Given the description of an element on the screen output the (x, y) to click on. 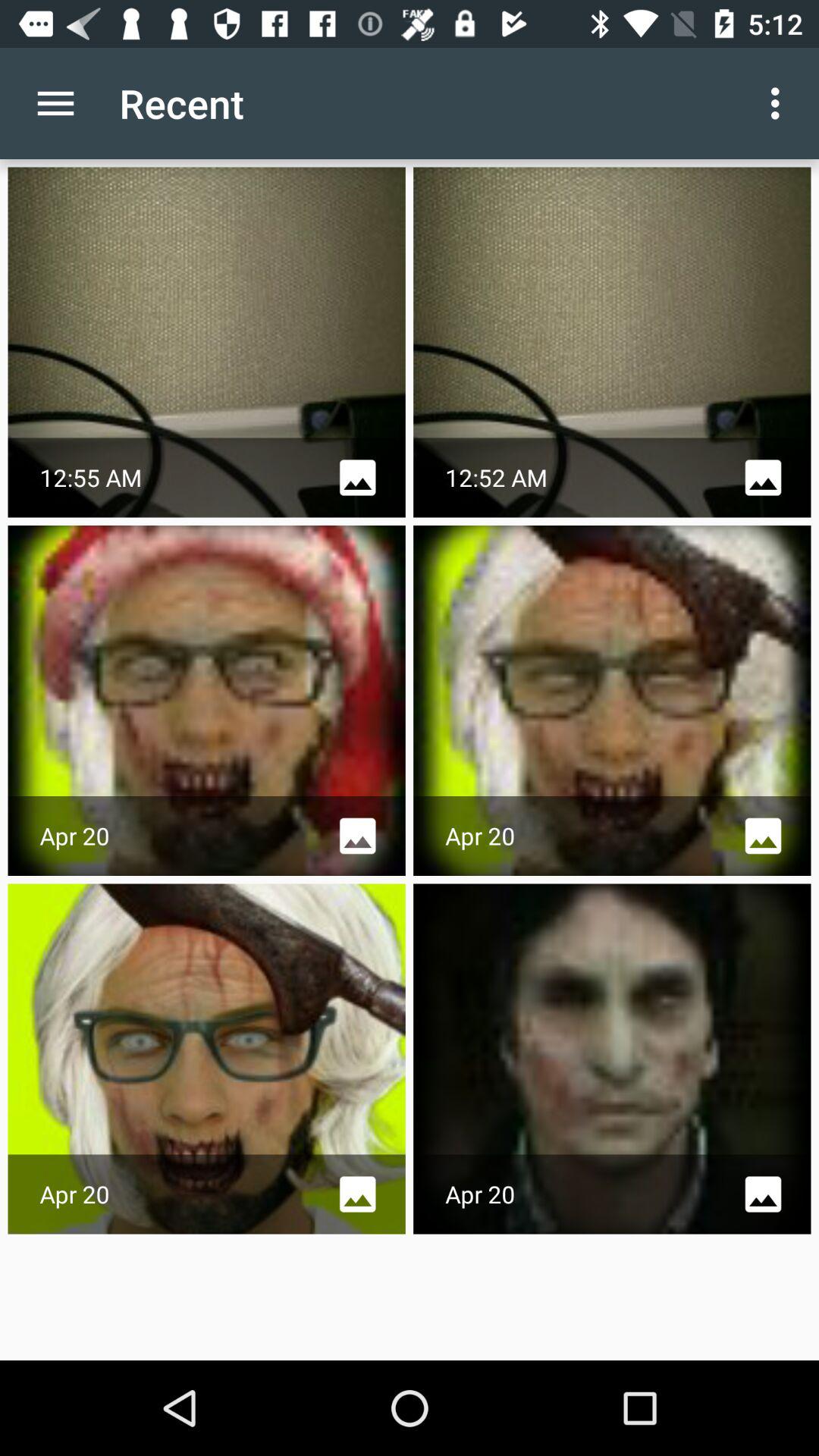
tap app next to the recent app (779, 103)
